Given the description of an element on the screen output the (x, y) to click on. 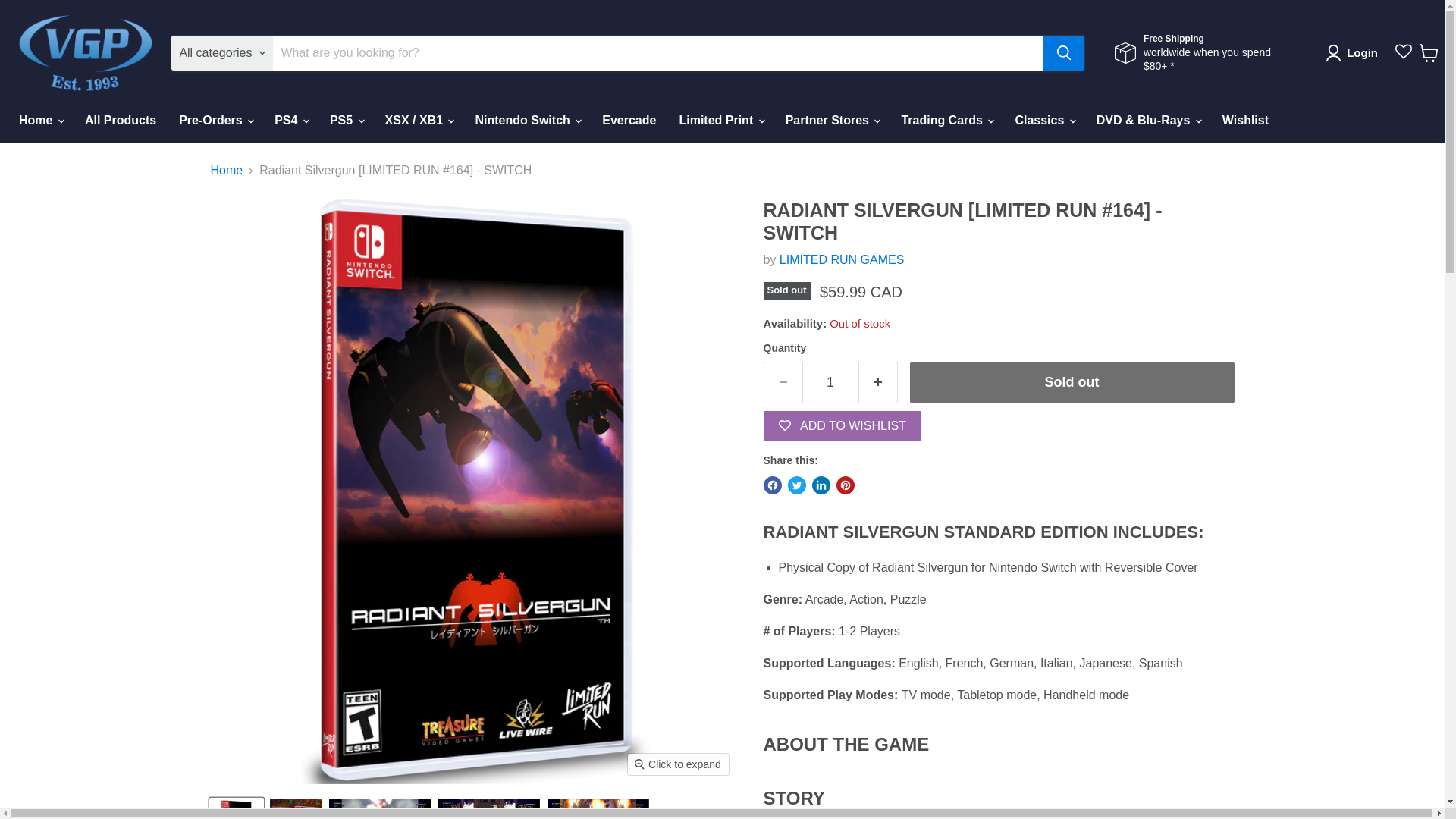
Login (1354, 53)
Evercade (628, 120)
LIMITED RUN GAMES (841, 259)
1 (830, 382)
All Products (120, 120)
